Given the description of an element on the screen output the (x, y) to click on. 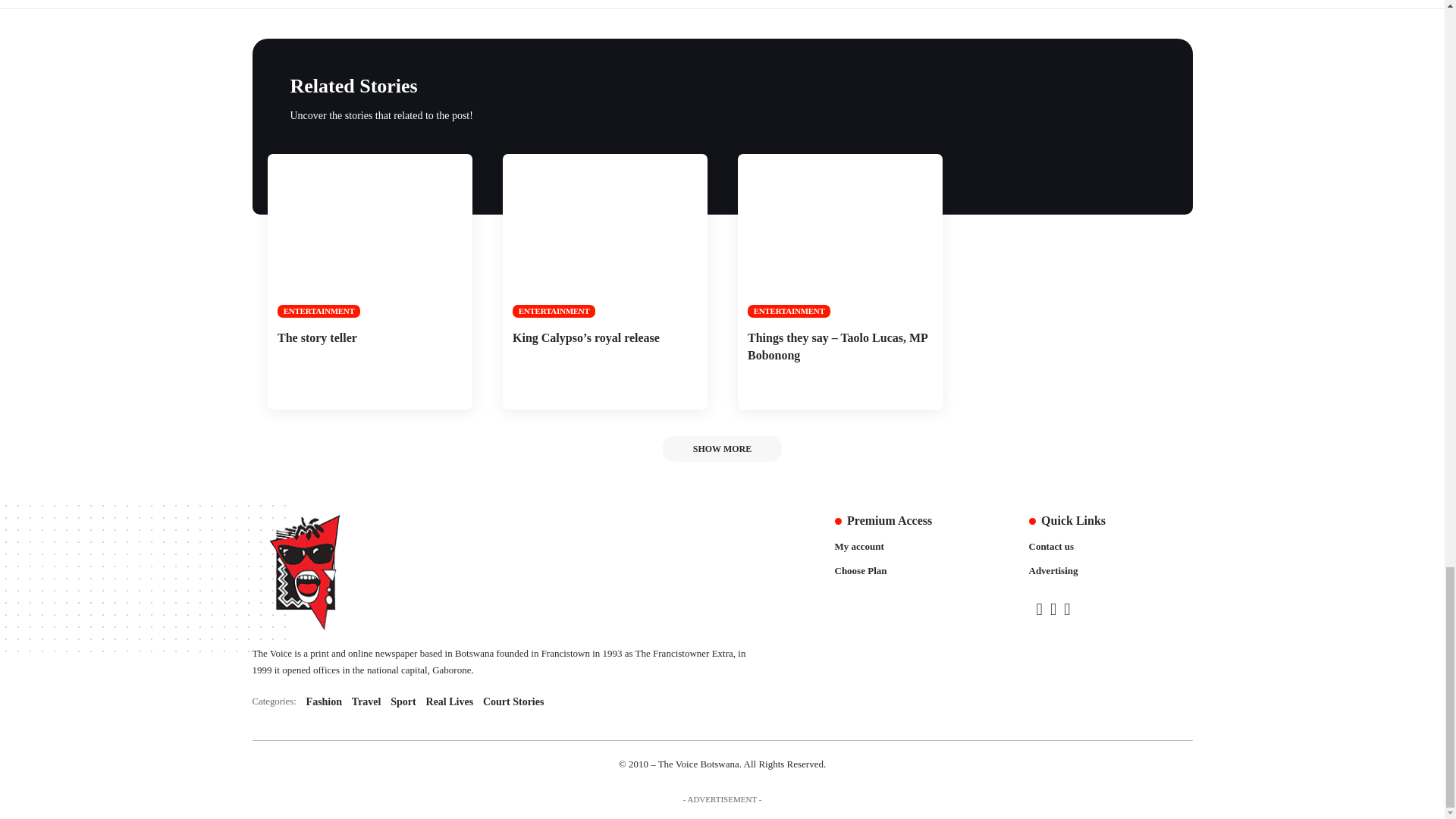
The story teller (498, 701)
